Given the description of an element on the screen output the (x, y) to click on. 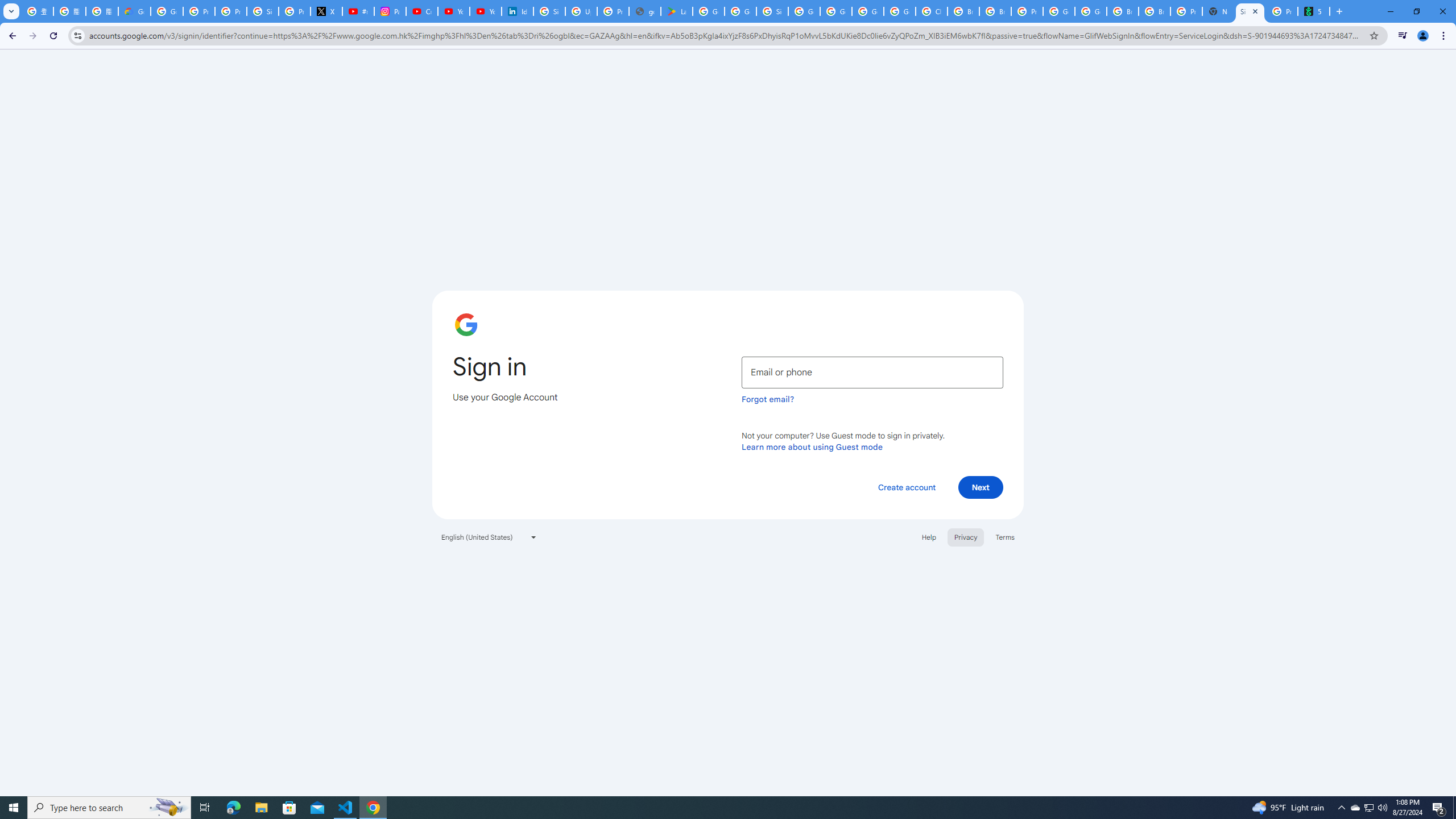
English (United States) (489, 536)
Google Workspace - Specific Terms (740, 11)
Browse Chrome as a guest - Computer - Google Chrome Help (1123, 11)
